Given the description of an element on the screen output the (x, y) to click on. 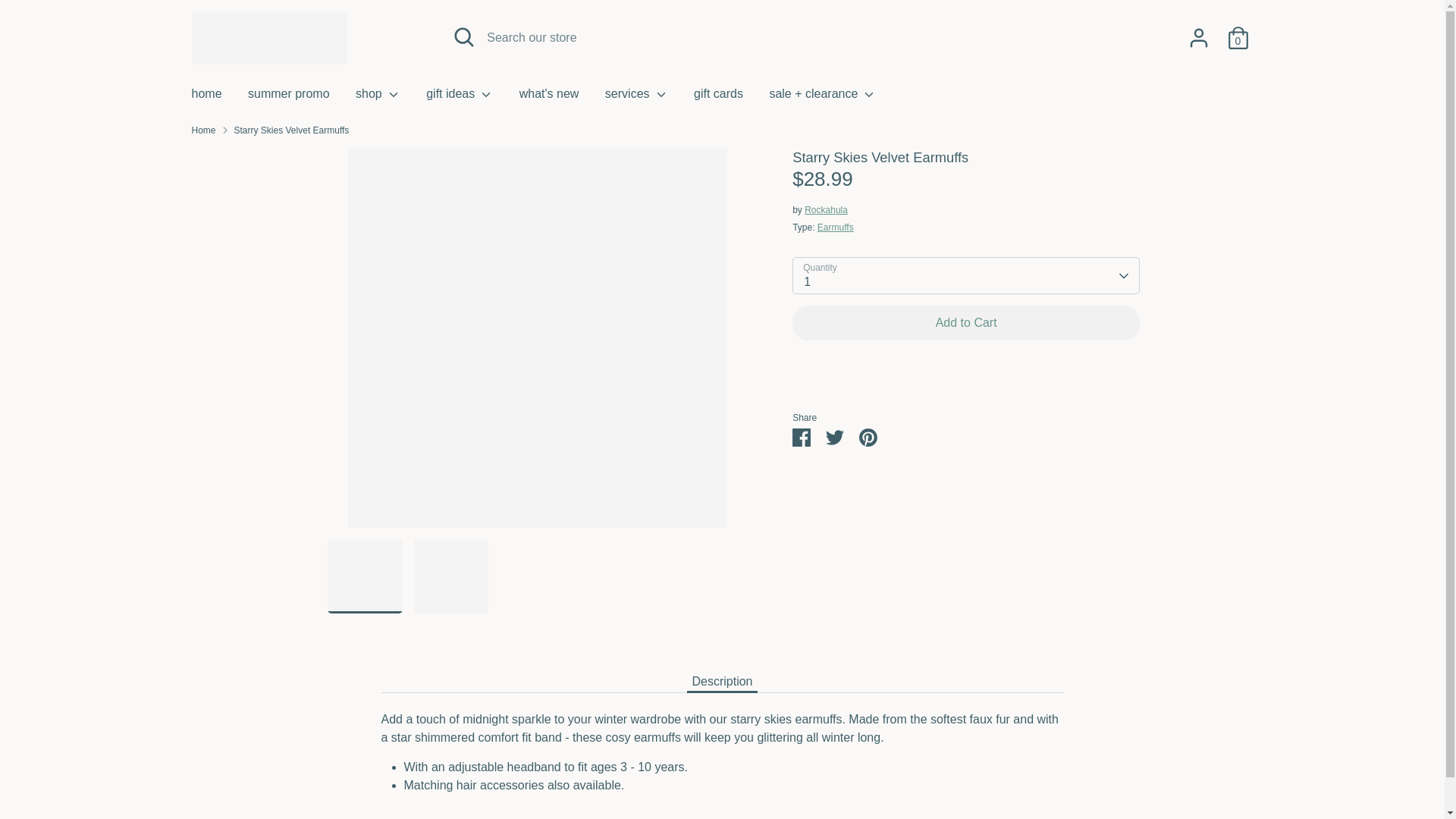
0 (1237, 37)
